Given the description of an element on the screen output the (x, y) to click on. 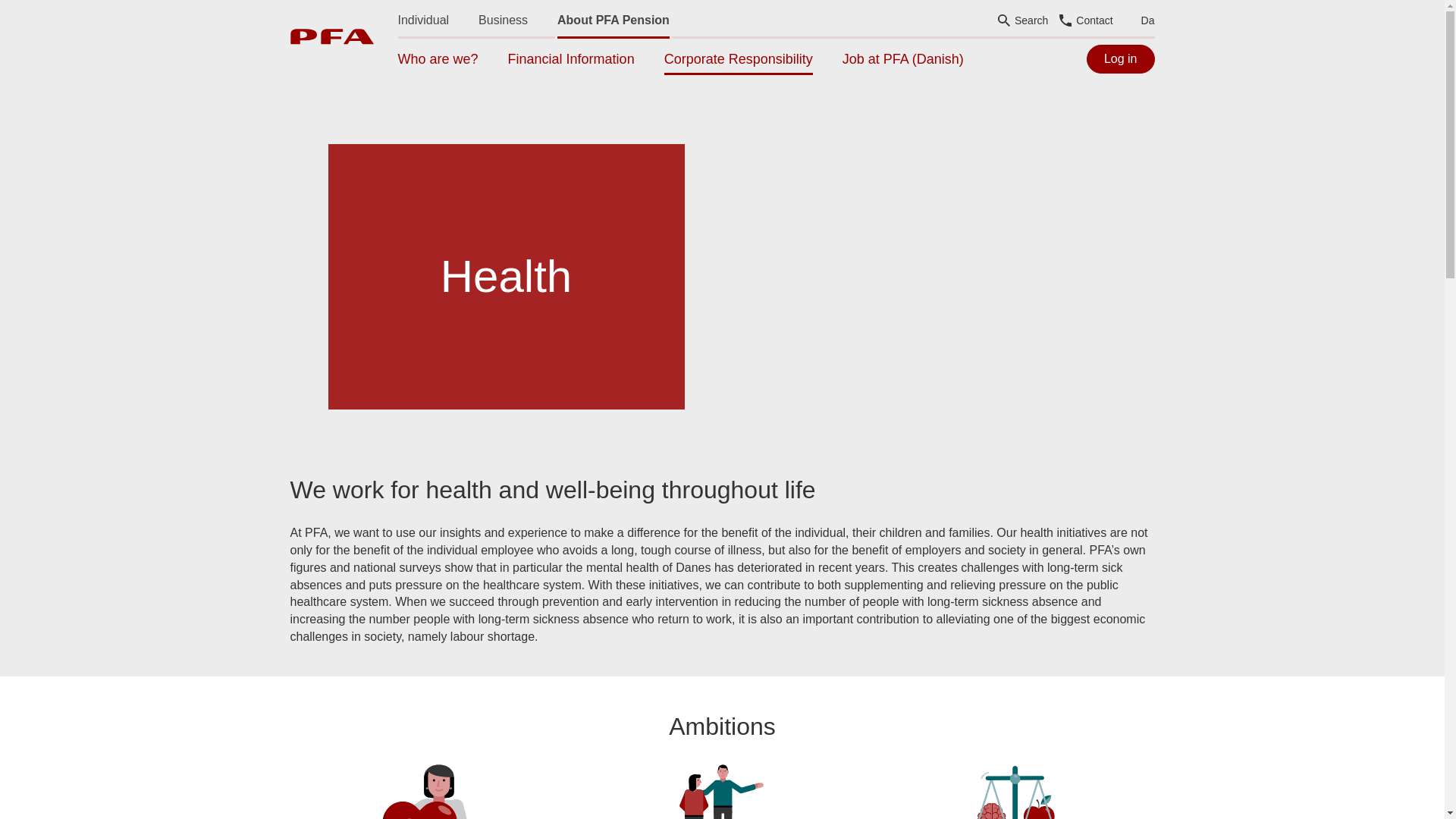
Log in (1120, 59)
Log in (1120, 59)
Corporate Responsibility (737, 59)
Individual (422, 20)
Individual (422, 20)
Corporate Responsibility (737, 59)
Financial Information (571, 59)
About PFA Pension (613, 20)
Who are we? (437, 59)
Contact (1085, 19)
